Given the description of an element on the screen output the (x, y) to click on. 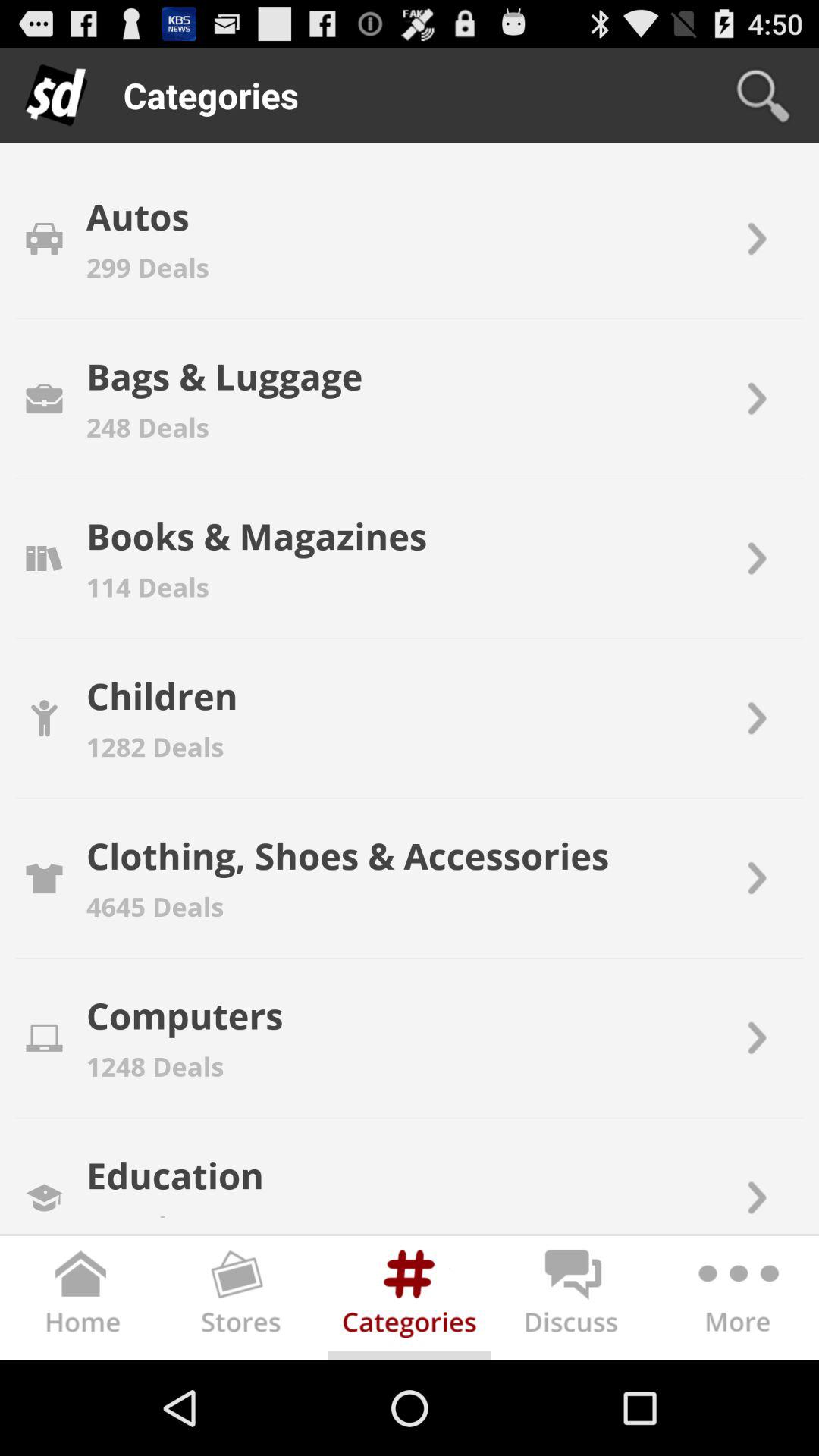
launch the 299 deals (147, 267)
